Given the description of an element on the screen output the (x, y) to click on. 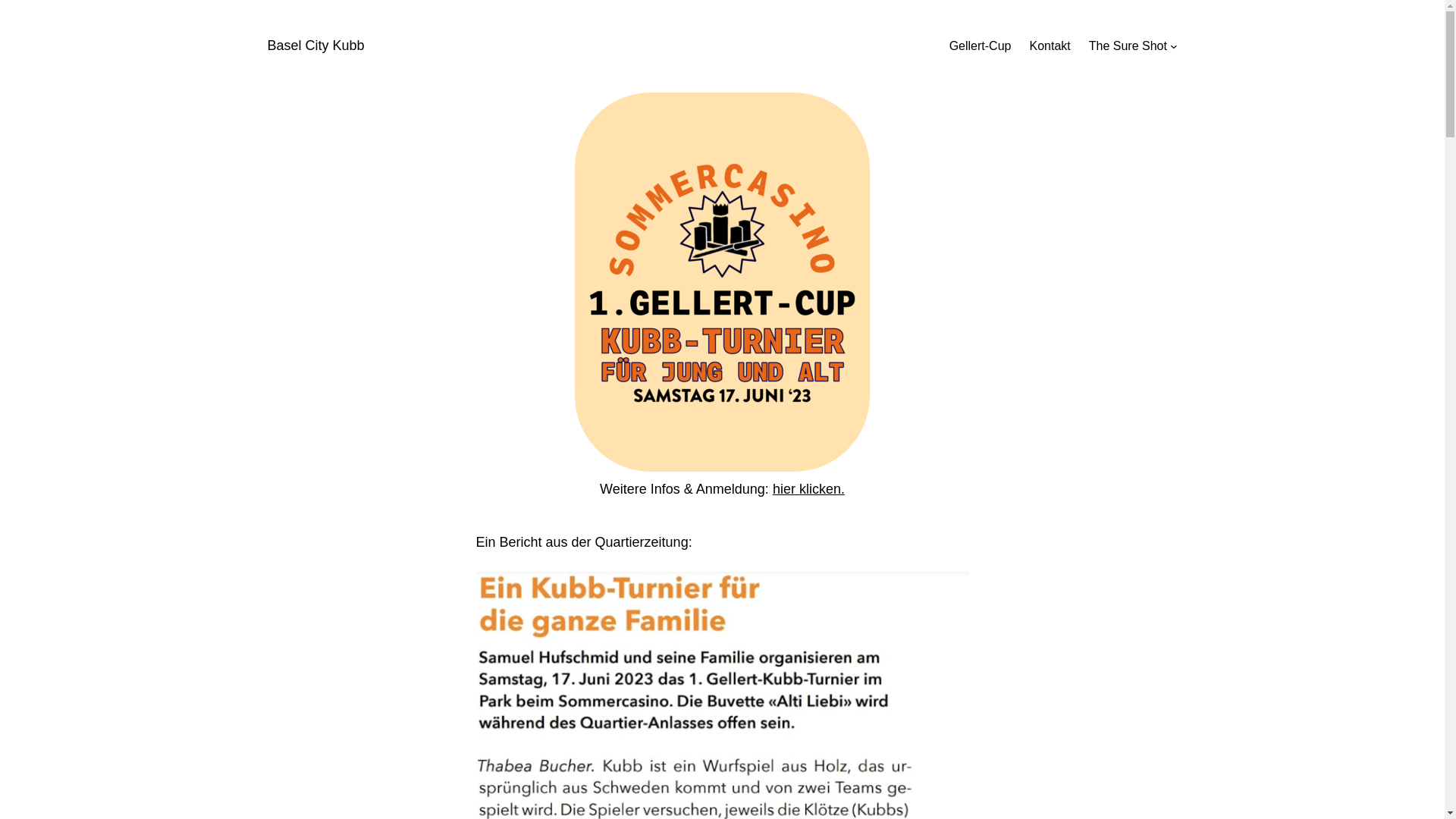
hier klicken. Element type: text (808, 488)
Basel City Kubb Element type: text (315, 45)
Kontakt Element type: text (1049, 46)
Gellert-Cup Element type: text (980, 46)
The Sure Shot Element type: text (1127, 46)
